Given the description of an element on the screen output the (x, y) to click on. 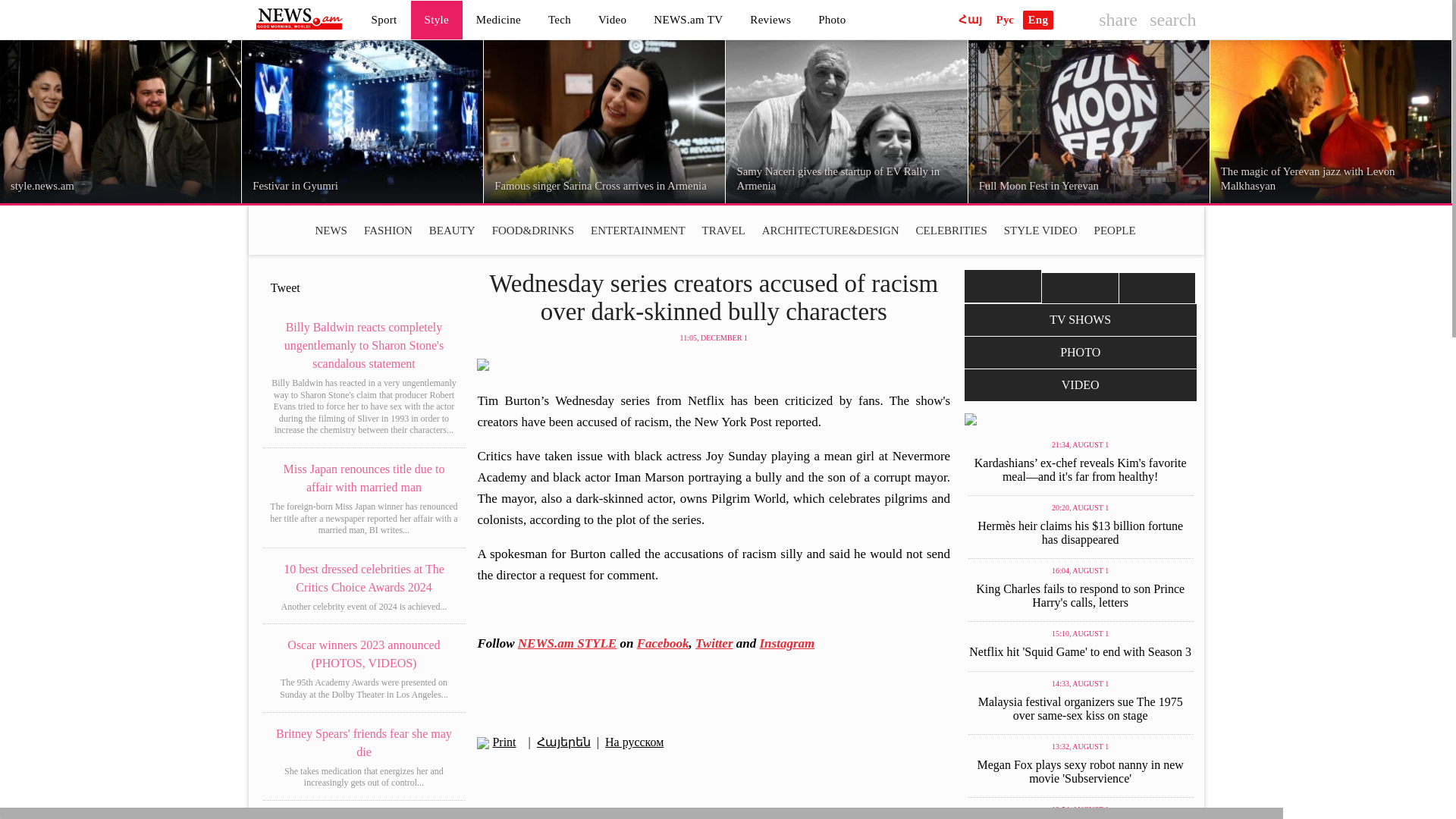
NEWS.am TV (688, 19)
Photo (832, 19)
Eng (1037, 19)
Medicine (498, 19)
Sport (384, 19)
Full Moon Fest in Yerevan (1088, 121)
Festivar in Gyumri (362, 121)
Tech (559, 19)
Famous singer Sarina Cross arrives in Armenia (604, 121)
Video (612, 19)
Eng (1037, 19)
Style (436, 19)
Reviews (770, 19)
The magic of Yerevan jazz with Levon Malkhasyan (1330, 121)
Samy Naceri gives the startup of EV Rally in Armenia (845, 121)
